Given the description of an element on the screen output the (x, y) to click on. 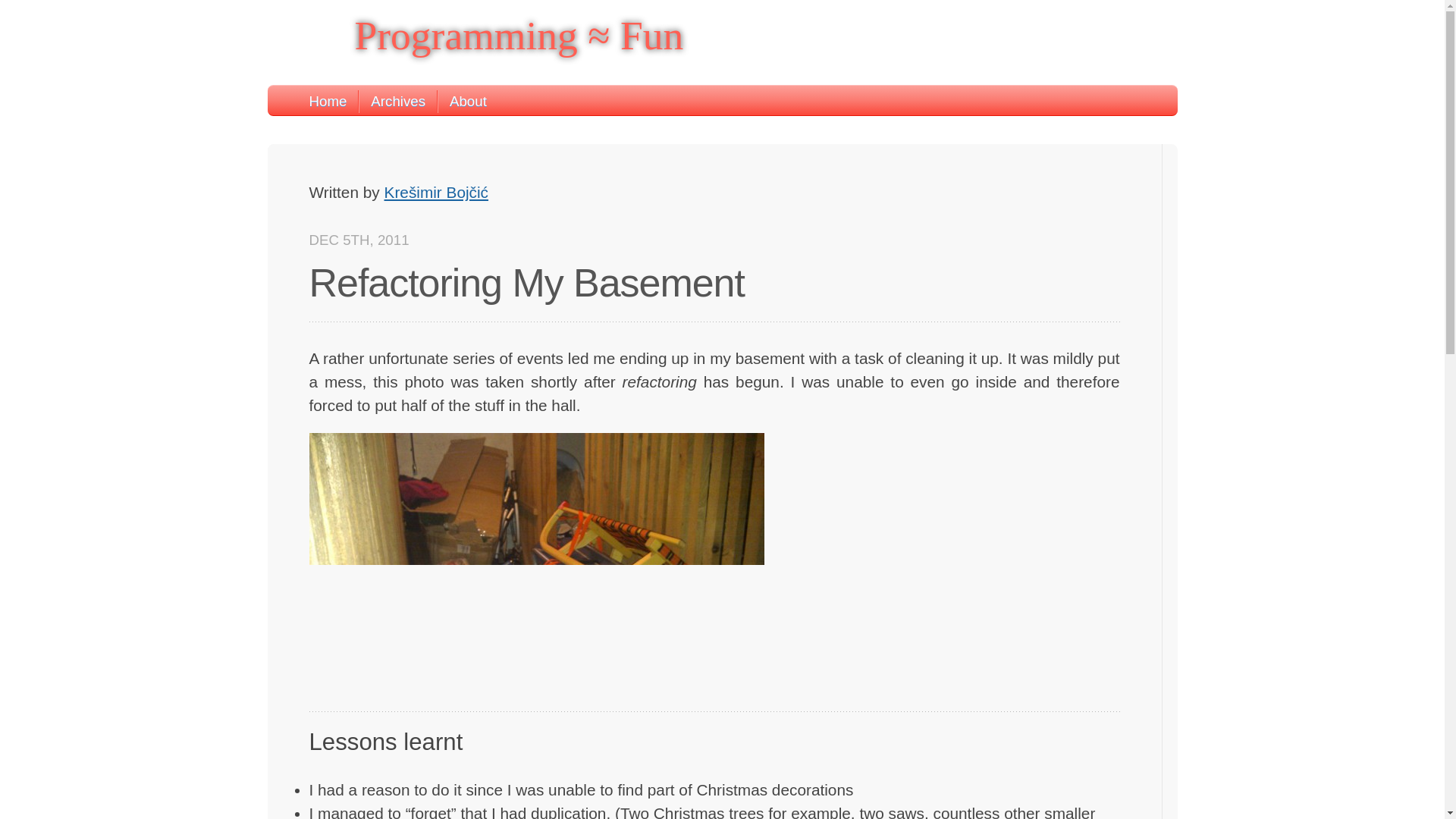
Archives (391, 101)
Home (327, 101)
About (462, 101)
